Given the description of an element on the screen output the (x, y) to click on. 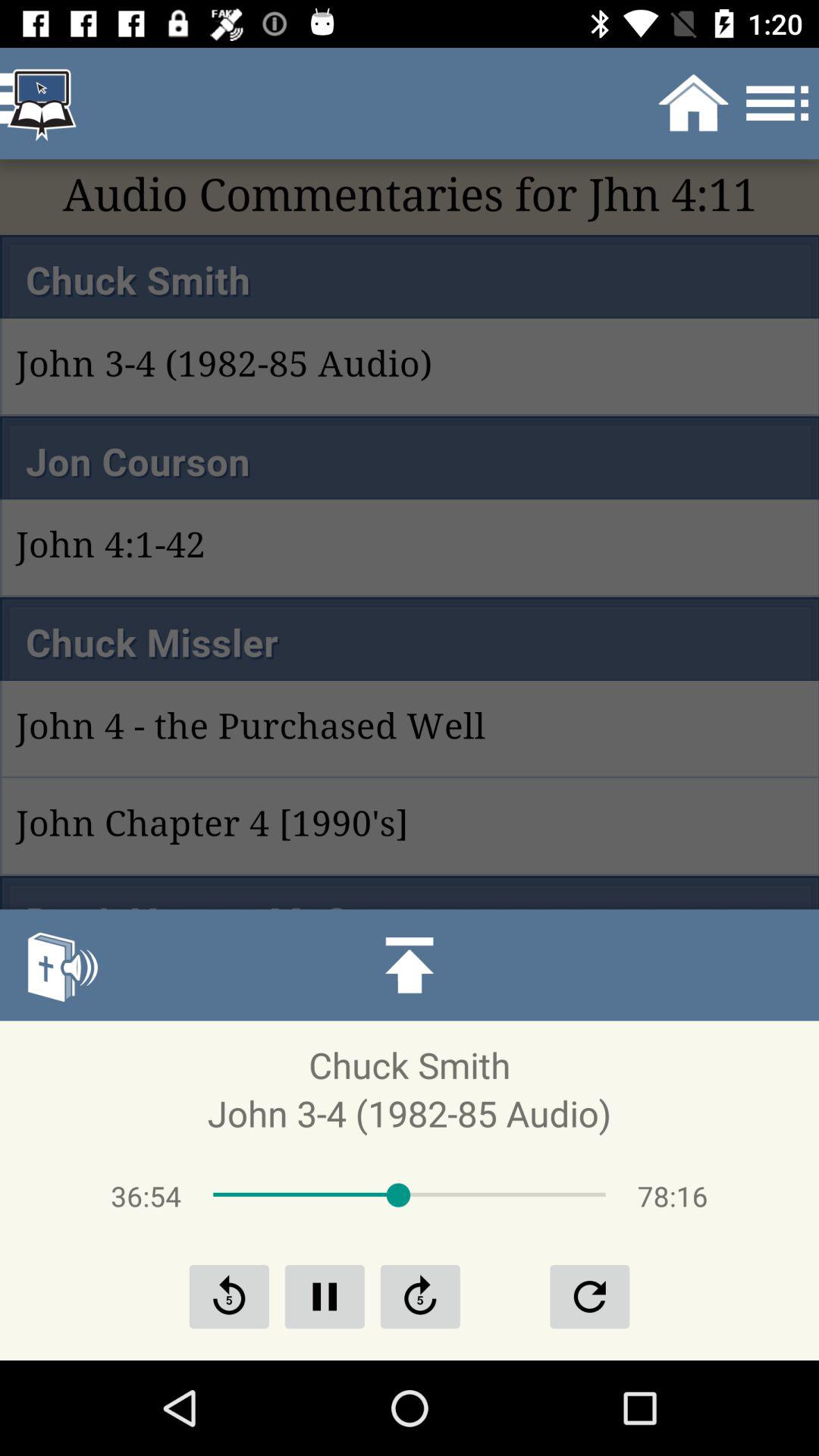
skip forward 5 seconds (420, 1296)
